Given the description of an element on the screen output the (x, y) to click on. 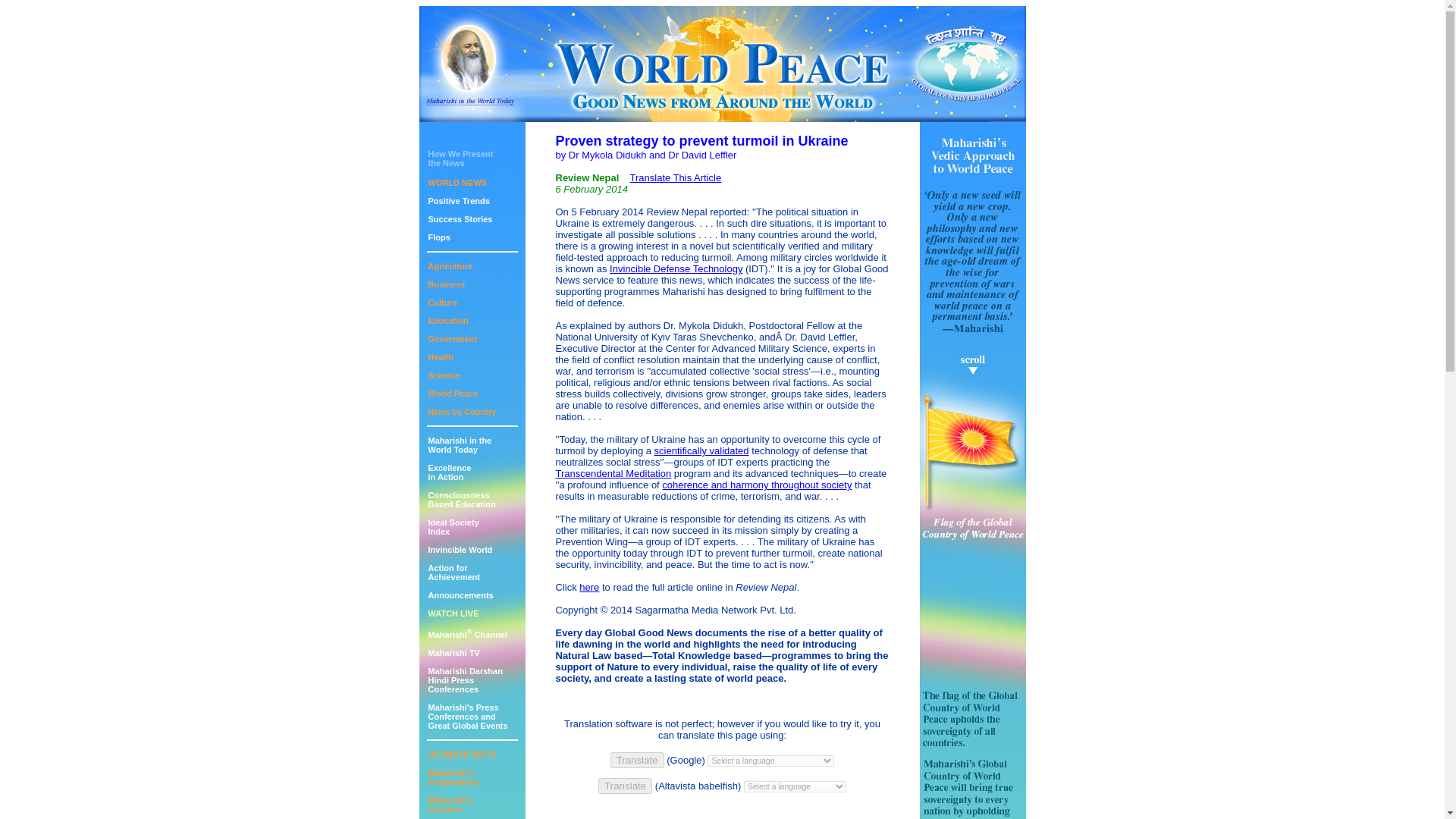
Government (453, 777)
Culture (452, 338)
Announcements (442, 302)
Education (460, 594)
Business (449, 472)
WATCH LIVE (447, 320)
Success Stories (446, 284)
